Given the description of an element on the screen output the (x, y) to click on. 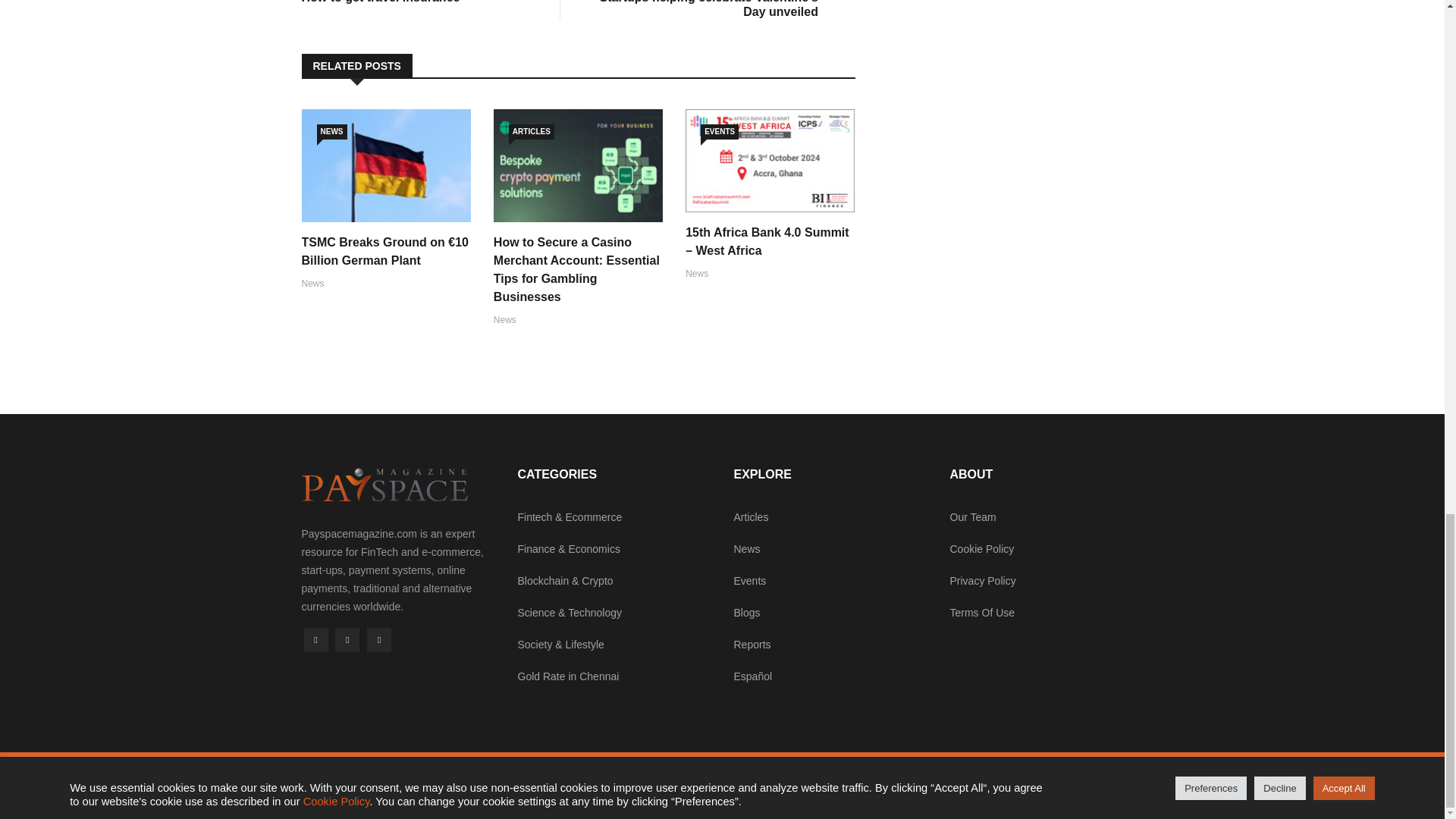
RSS (378, 639)
Facebook (314, 639)
ARTICLES (531, 131)
Twitter (346, 639)
NEWS (332, 131)
EVENTS (415, 2)
